Given the description of an element on the screen output the (x, y) to click on. 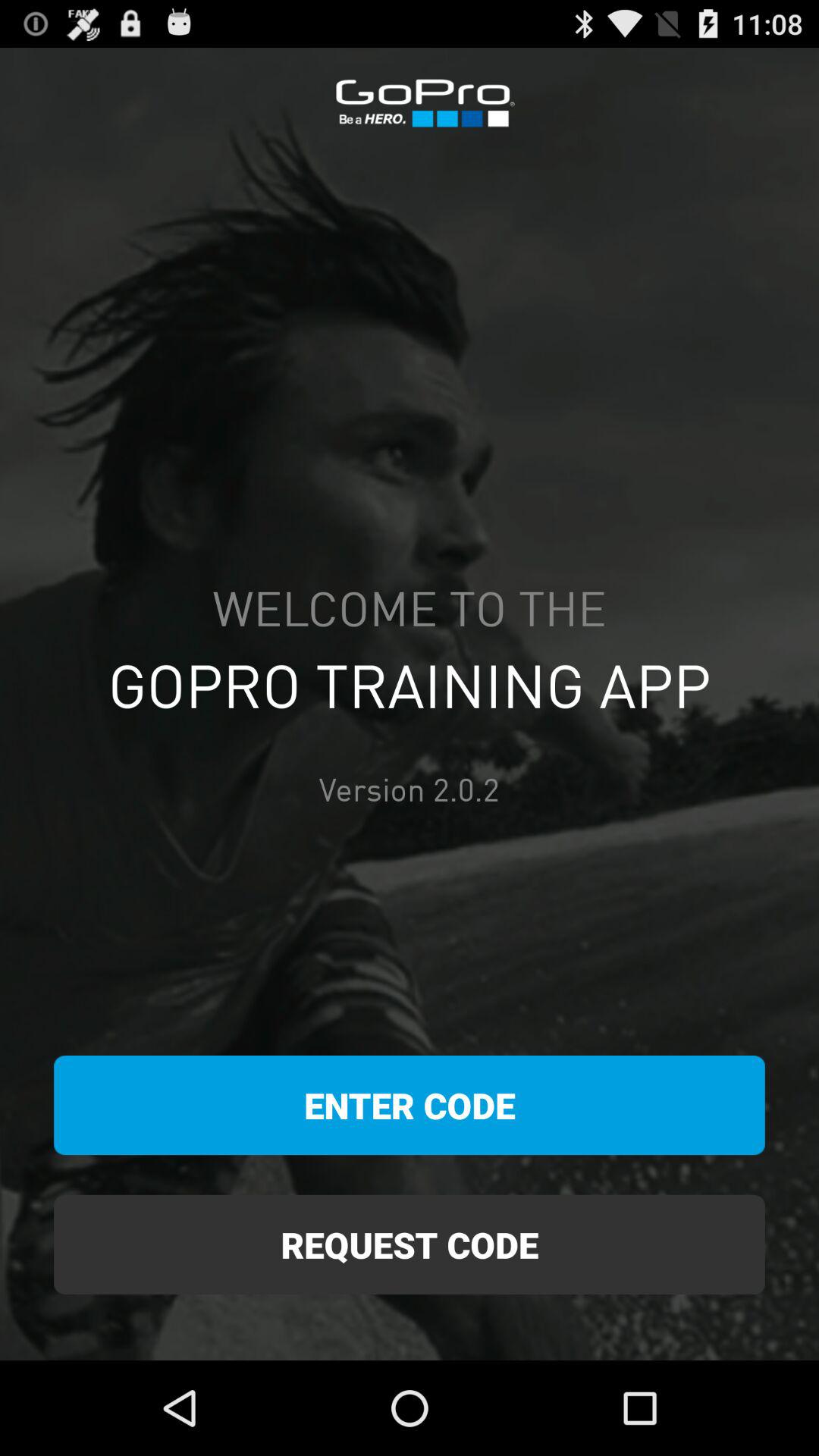
turn on the icon above the request code icon (409, 1105)
